Given the description of an element on the screen output the (x, y) to click on. 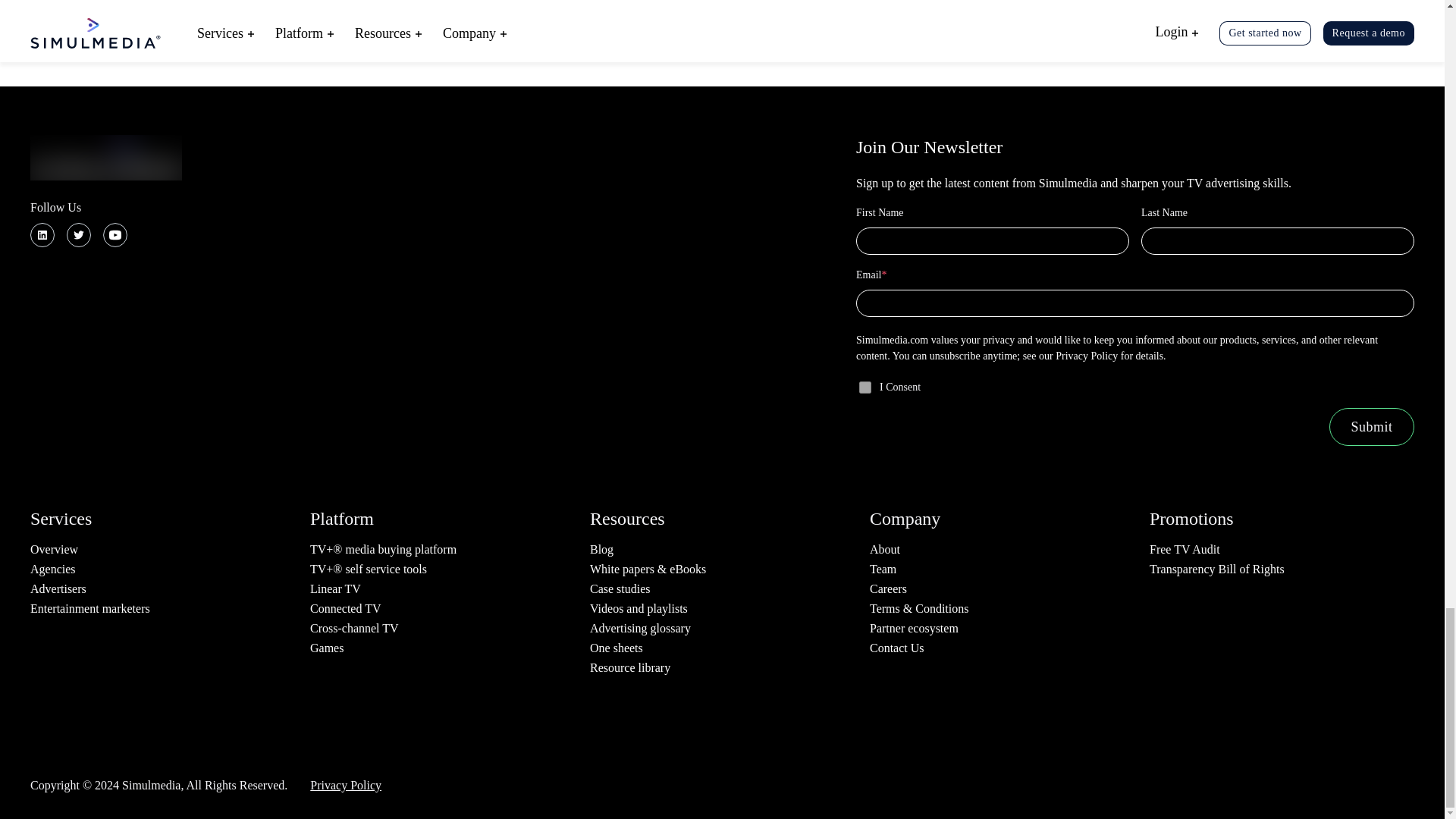
Submit (1371, 426)
true (864, 387)
